Given the description of an element on the screen output the (x, y) to click on. 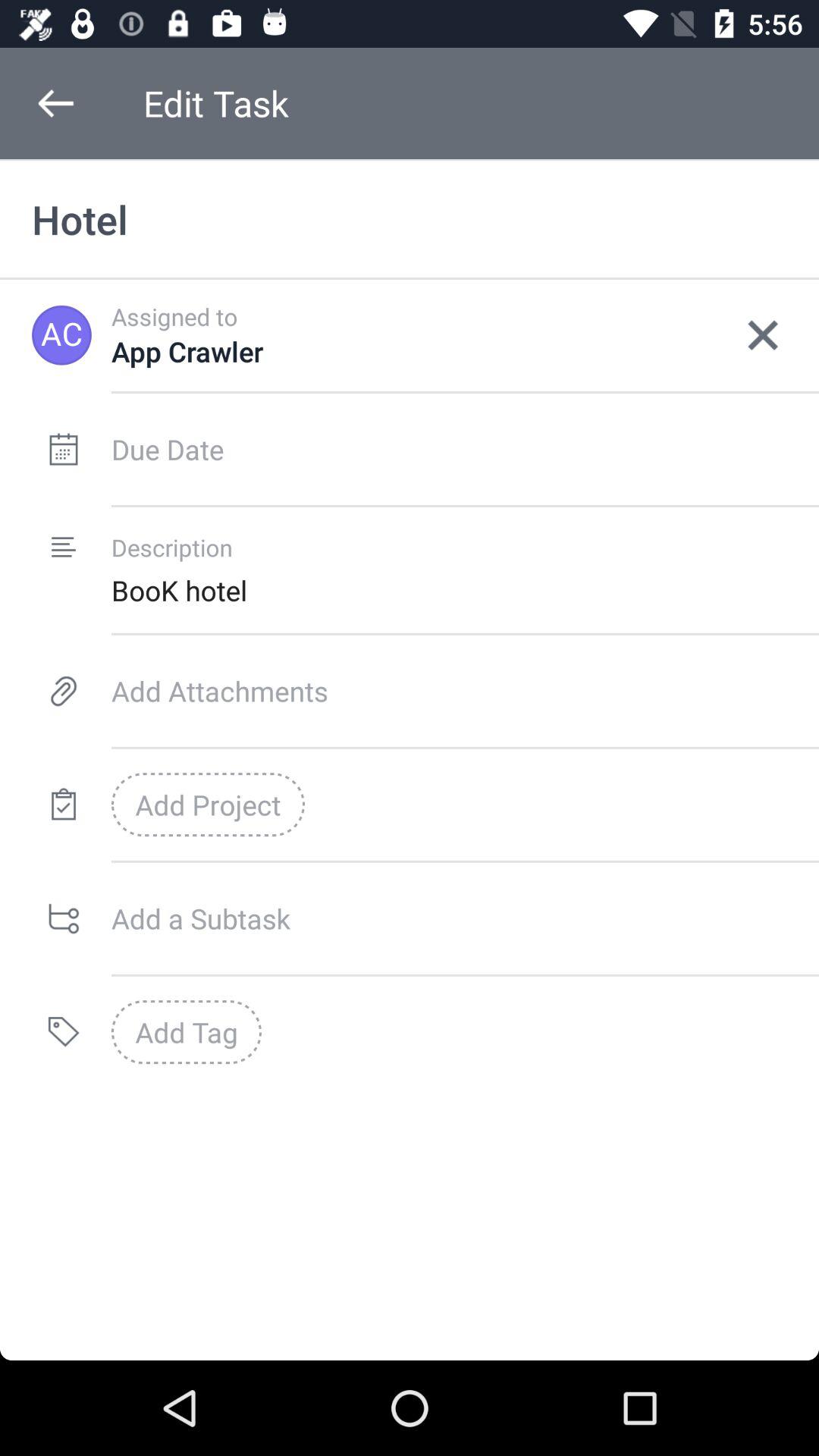
open add tag (186, 1032)
